Given the description of an element on the screen output the (x, y) to click on. 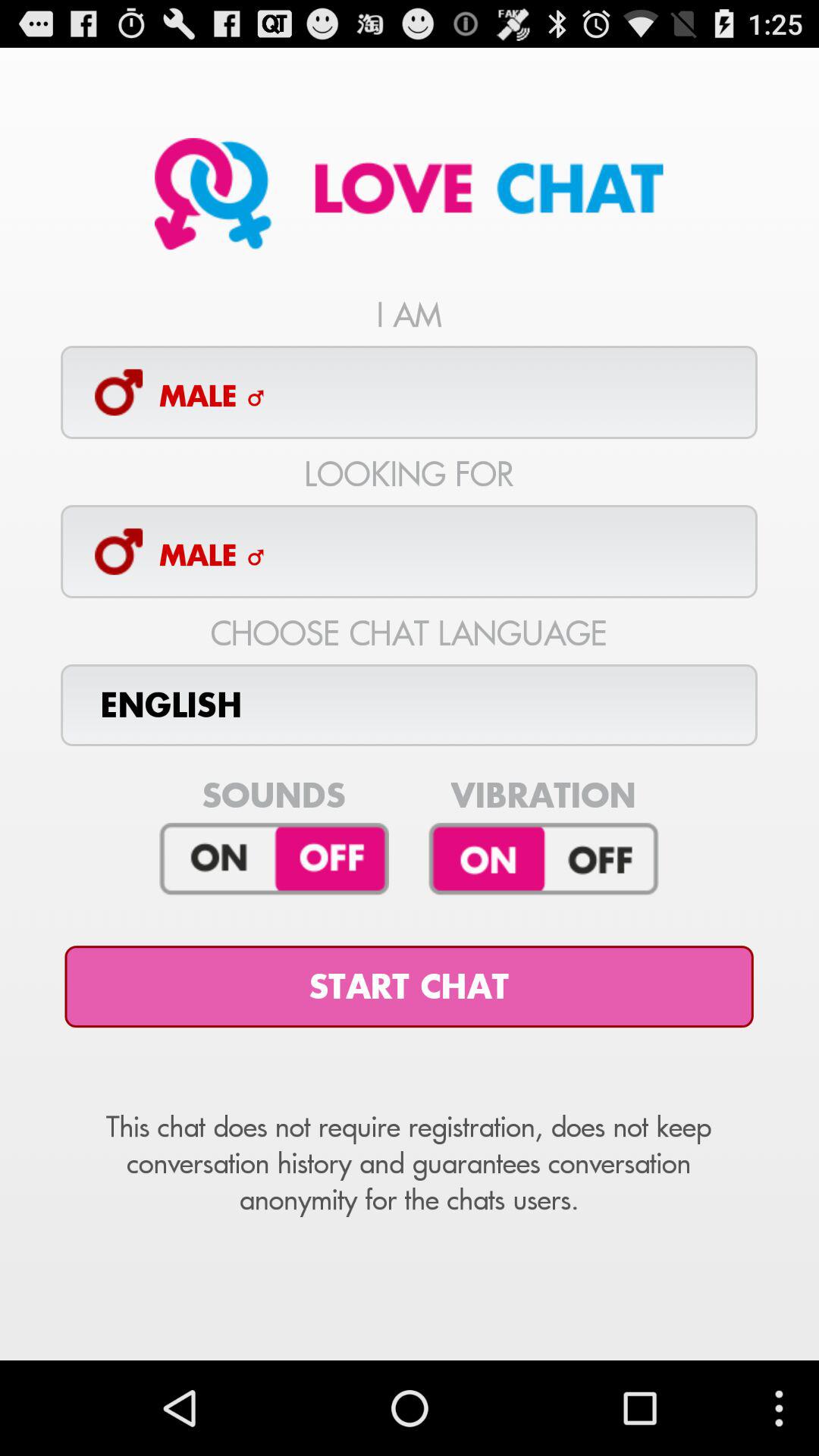
select item above the this chat does (408, 986)
